Given the description of an element on the screen output the (x, y) to click on. 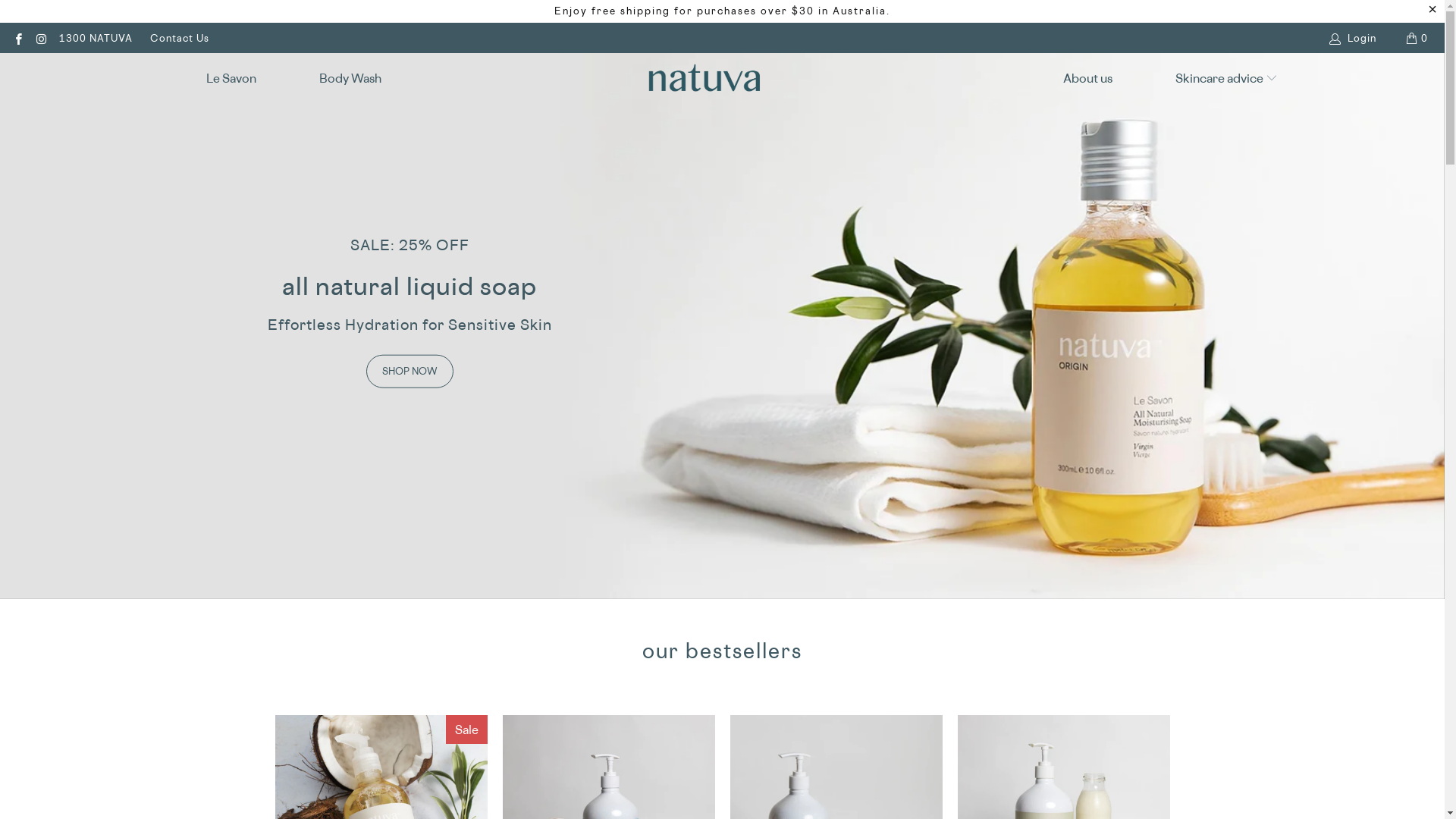
0 Element type: text (1417, 37)
Natuva Skincare Element type: hover (704, 77)
Contact Us Element type: text (179, 37)
SHOP NOW Element type: text (408, 370)
our bestsellers Element type: text (721, 651)
Login Element type: text (1353, 37)
Natuva Skincare on Facebook Element type: hover (17, 37)
Body Wash Element type: text (350, 78)
Natuva Skincare on Instagram Element type: hover (40, 37)
Skincare advice Element type: text (1226, 78)
About us Element type: text (1087, 78)
1300 NATUVA Element type: text (95, 37)
Le Savon Element type: text (231, 78)
